Given the description of an element on the screen output the (x, y) to click on. 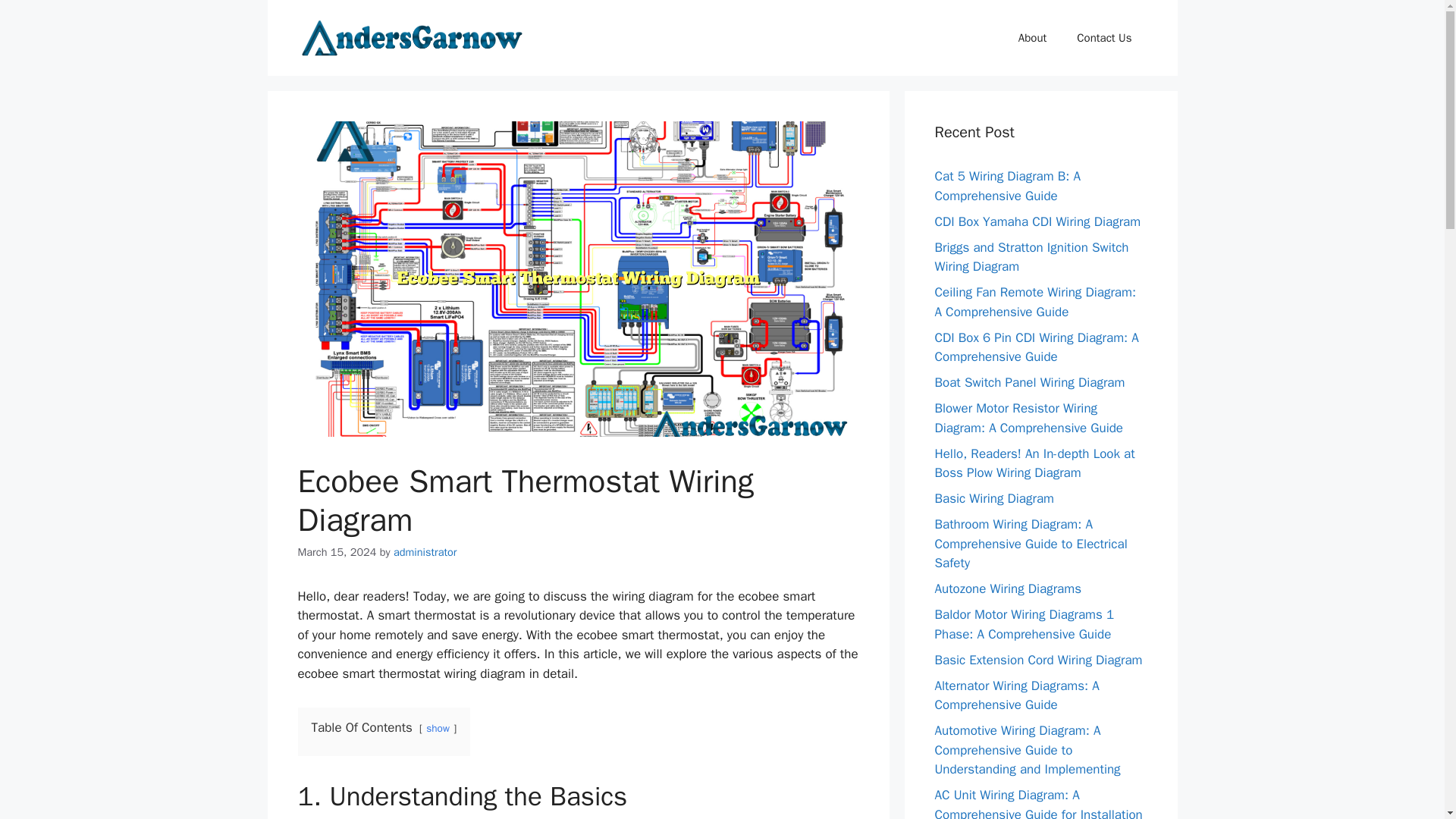
Briggs and Stratton Ignition Switch Wiring Diagram (1031, 257)
Basic Extension Cord Wiring Diagram (1037, 659)
About (1032, 37)
Baldor Motor Wiring Diagrams 1 Phase: A Comprehensive Guide (1023, 624)
View all posts by administrator (425, 551)
show (437, 727)
CDI Box Yamaha CDI Wiring Diagram (1037, 221)
Ceiling Fan Remote Wiring Diagram: A Comprehensive Guide (1034, 302)
